Given the description of an element on the screen output the (x, y) to click on. 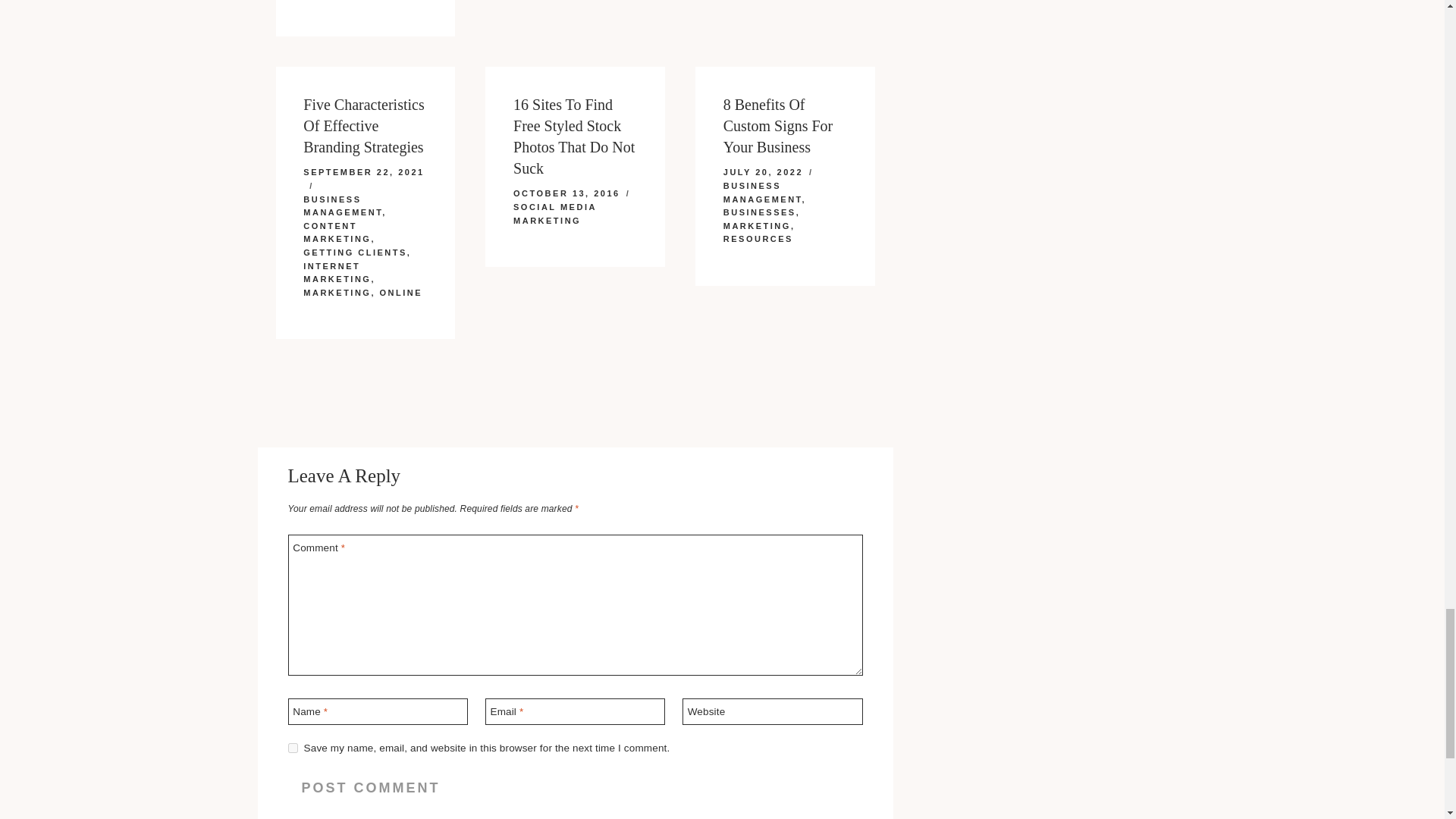
yes (293, 747)
Post Comment (371, 788)
